Given the description of an element on the screen output the (x, y) to click on. 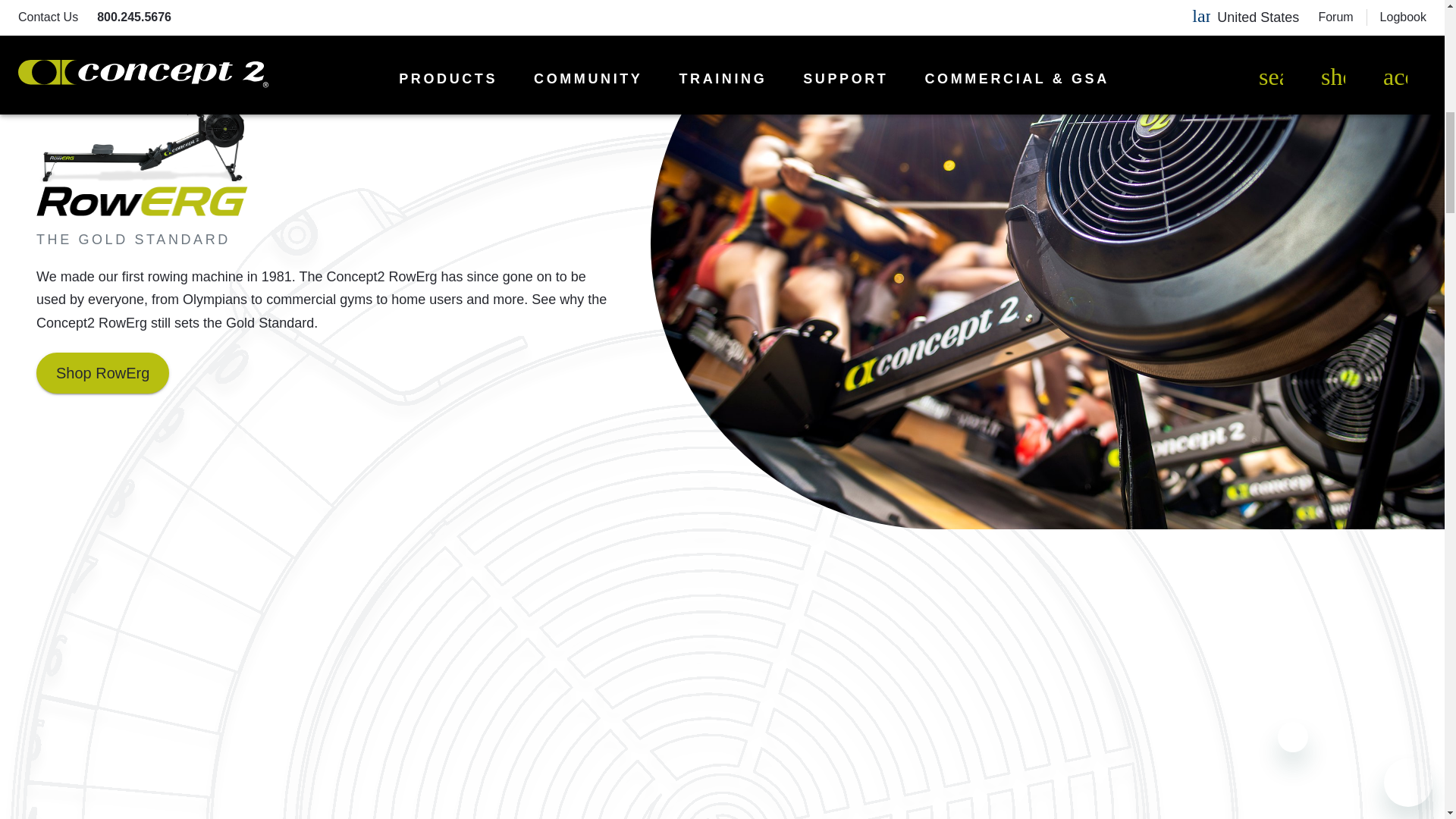
Shop RowErg (102, 372)
